Given the description of an element on the screen output the (x, y) to click on. 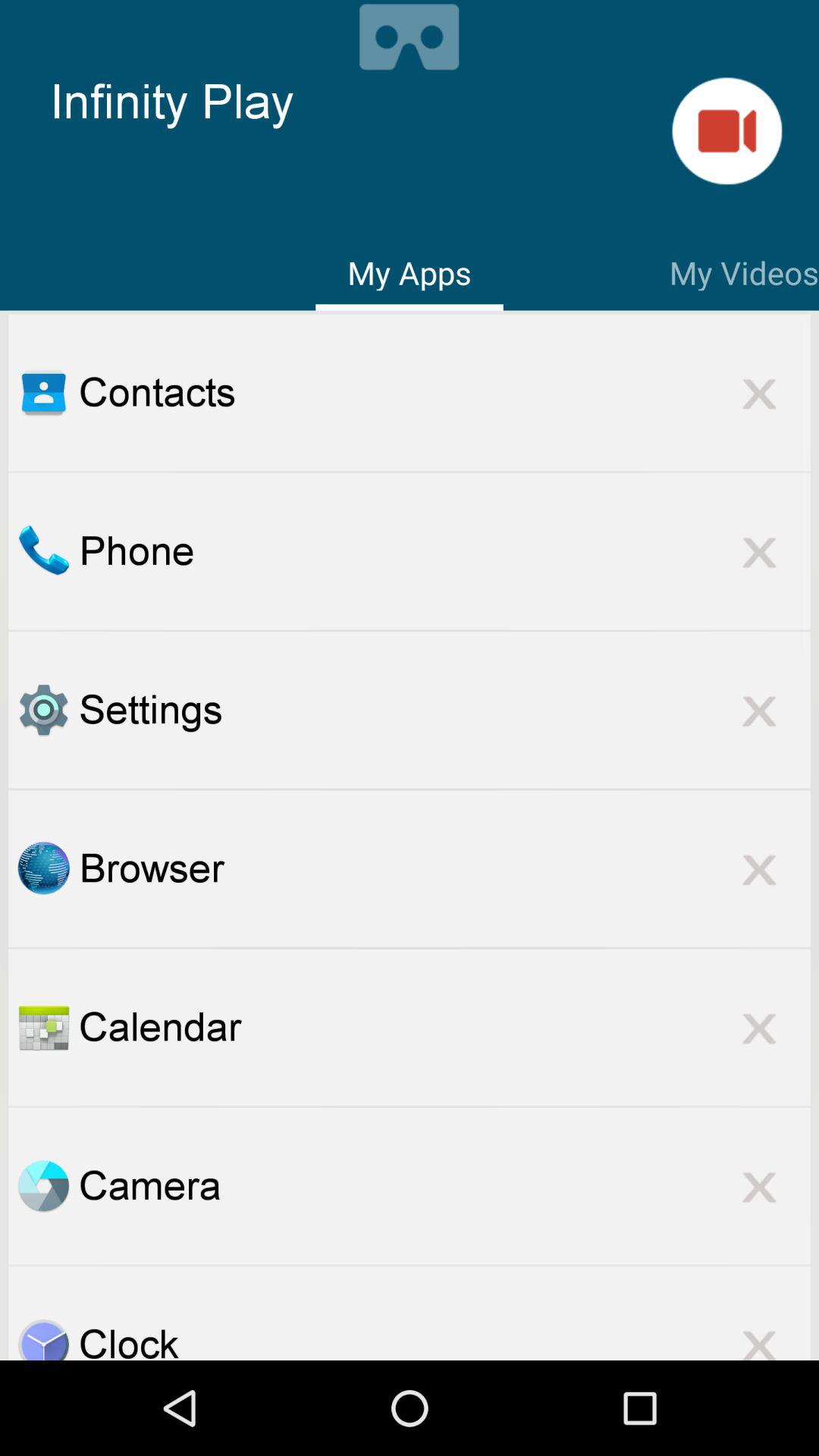
scroll until phone icon (444, 550)
